Given the description of an element on the screen output the (x, y) to click on. 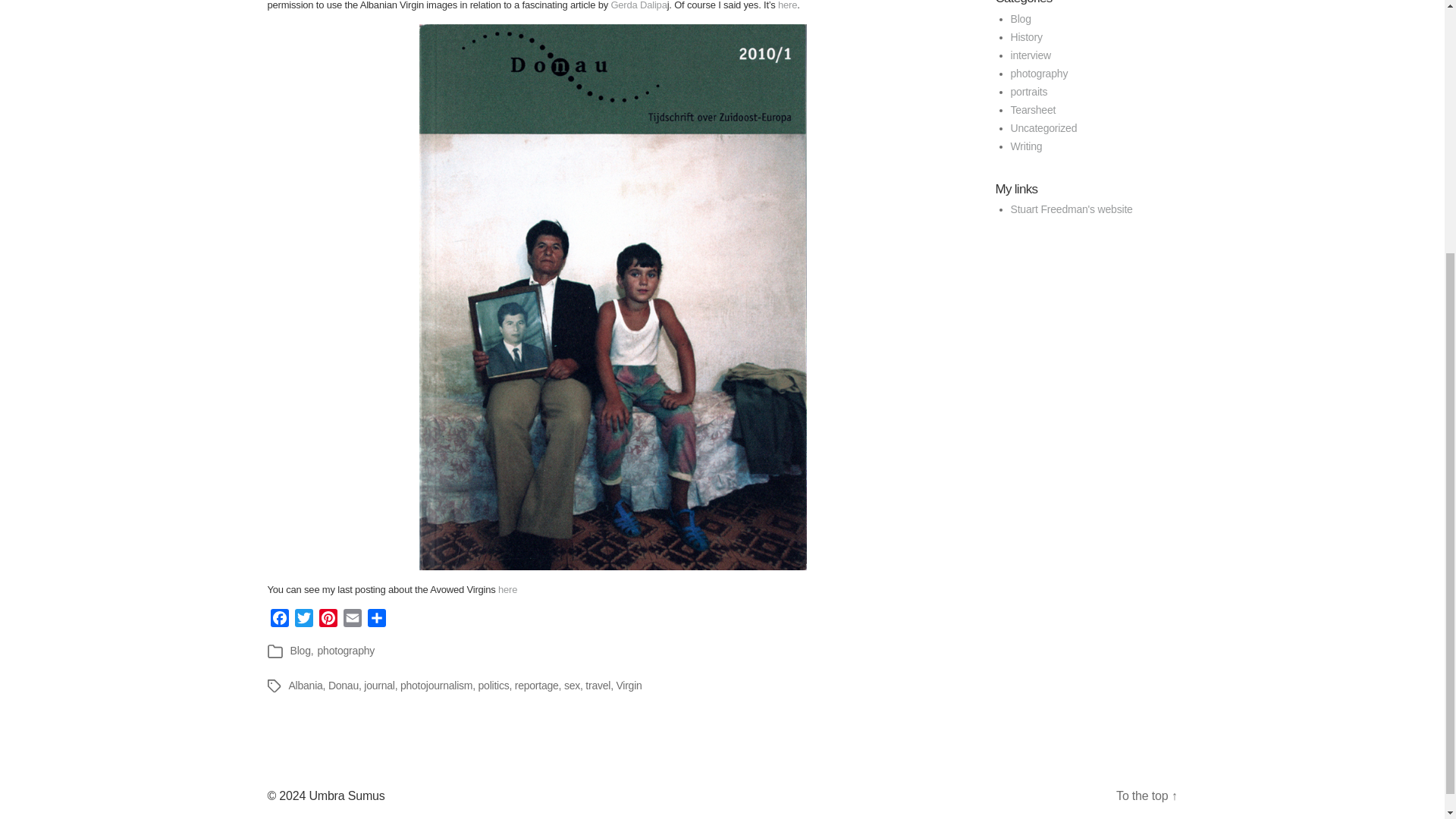
Albania (304, 685)
politics (494, 685)
here (786, 5)
Pinterest (327, 620)
interview (1030, 55)
reportage (537, 685)
Twitter (303, 620)
Facebook (278, 620)
Twitter (303, 620)
photography (1038, 73)
here (506, 589)
History (1026, 37)
Blog (1020, 19)
Pinterest (327, 620)
photography (345, 651)
